Given the description of an element on the screen output the (x, y) to click on. 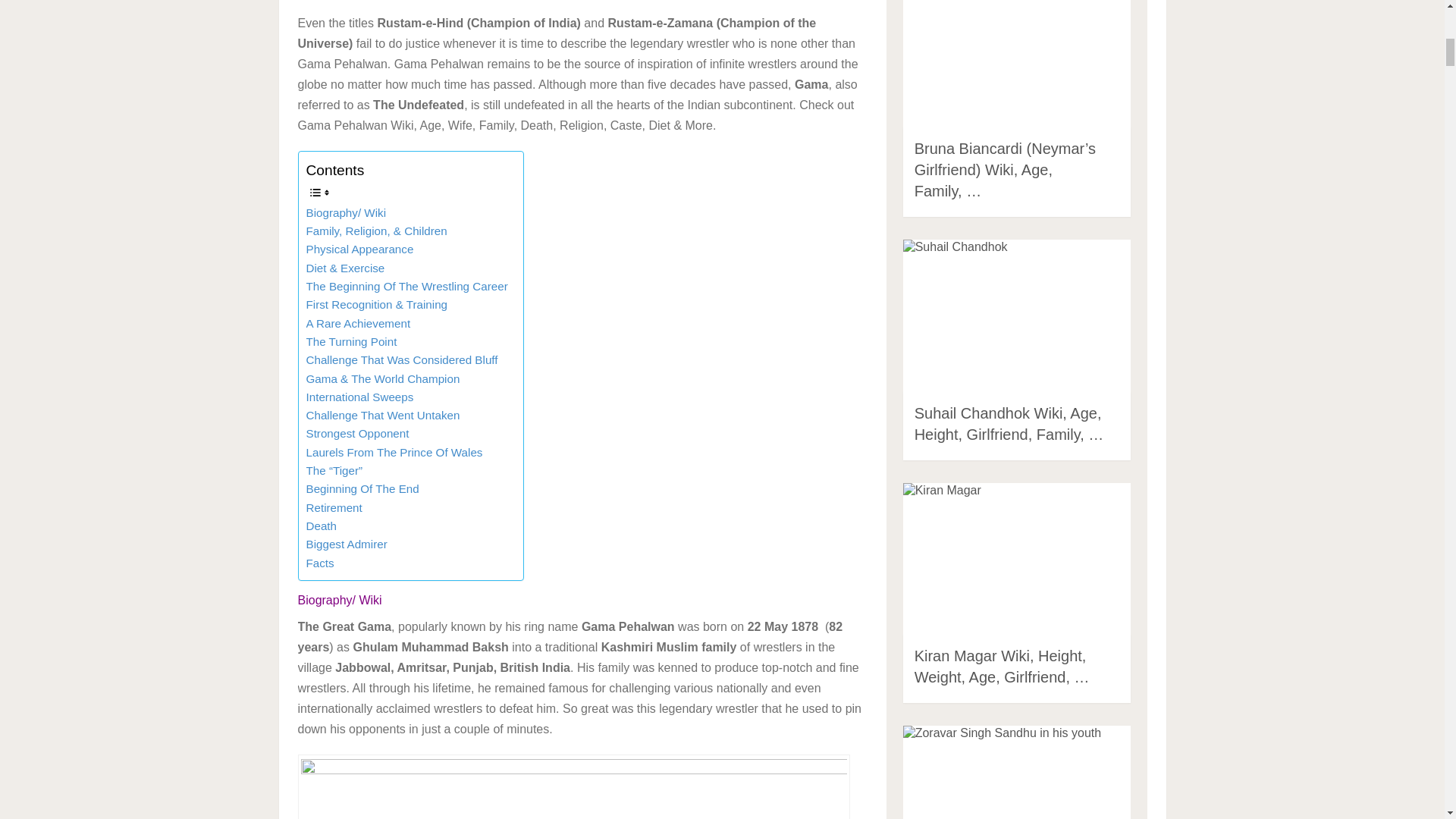
Biggest Admirer (346, 544)
Death (321, 525)
The Turning Point (351, 341)
Retirement (333, 507)
Retirement (333, 507)
International Sweeps (359, 397)
The Beginning Of The Wrestling Career (406, 286)
Death (321, 525)
Challenge That Went Untaken (382, 415)
A Rare Achievement (357, 323)
Challenge That Was Considered Bluff (401, 360)
The Beginning Of The Wrestling Career (406, 286)
Strongest Opponent (357, 434)
The Turning Point (351, 341)
Beginning Of The End (362, 488)
